Given the description of an element on the screen output the (x, y) to click on. 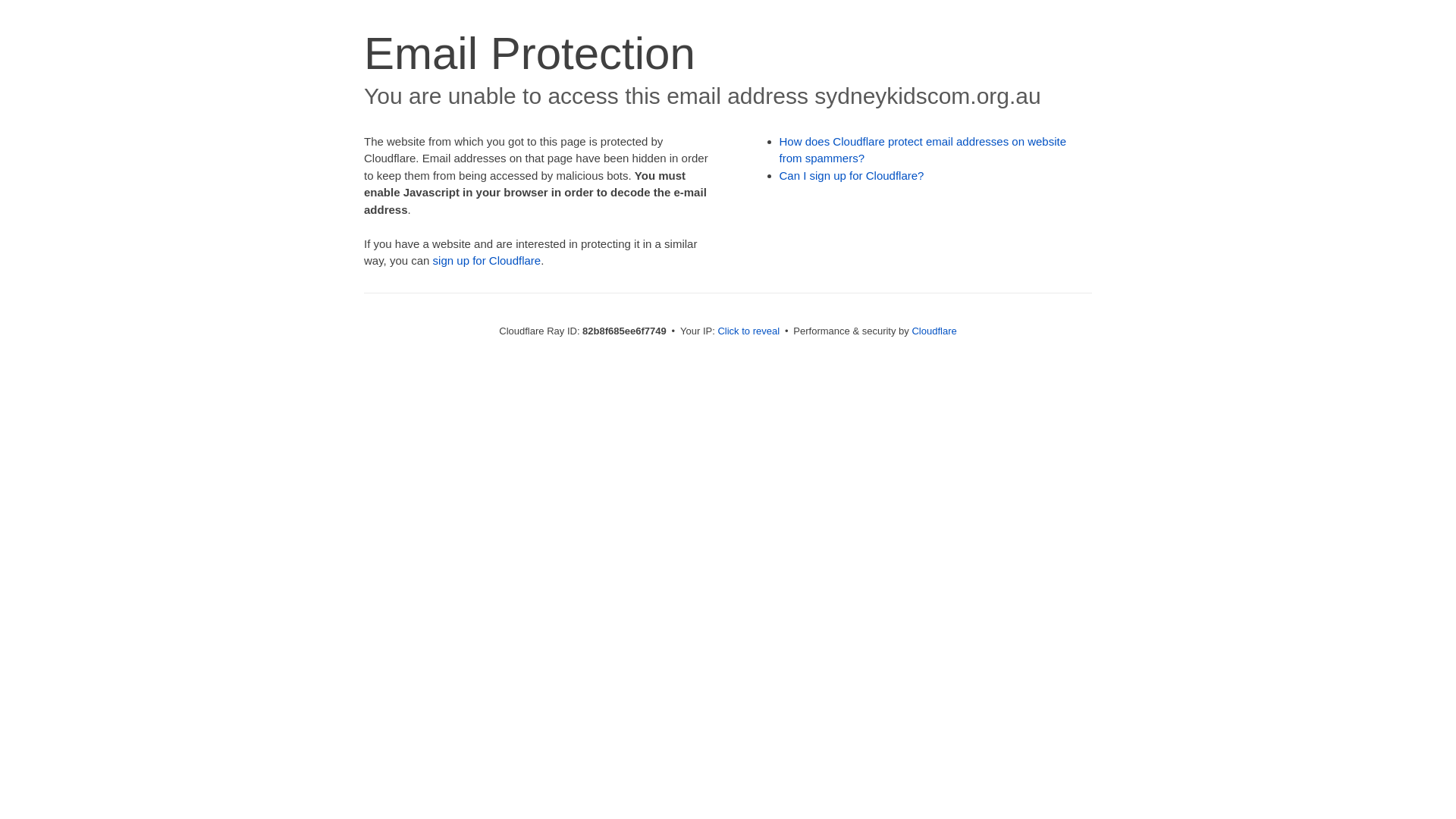
Can I sign up for Cloudflare? Element type: text (851, 175)
Click to reveal Element type: text (748, 330)
sign up for Cloudflare Element type: text (487, 260)
Cloudflare Element type: text (933, 330)
